Given the description of an element on the screen output the (x, y) to click on. 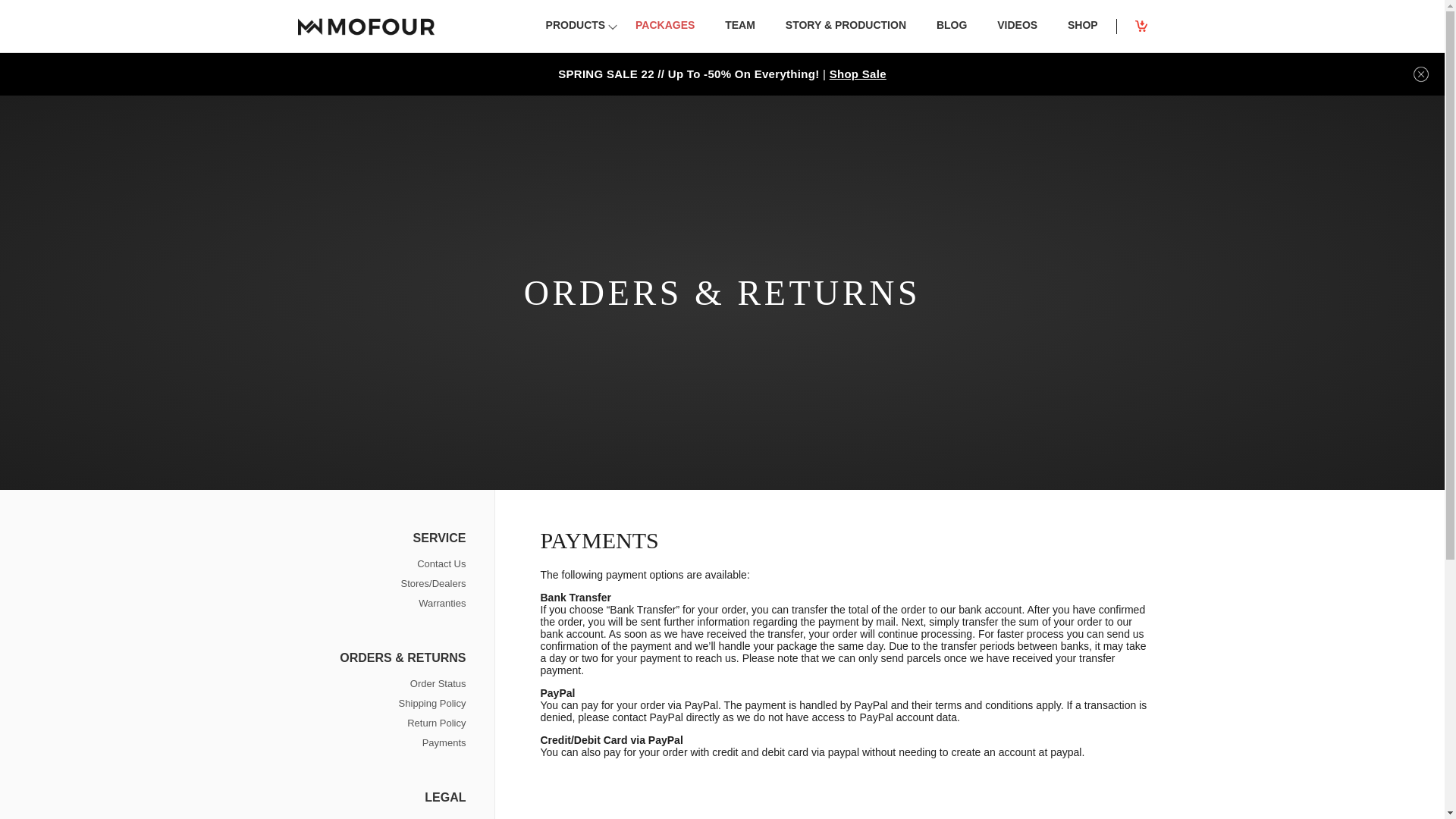
PRODUCTS (575, 33)
PACKAGES (664, 33)
BLOG (951, 33)
VIDEOS (1017, 33)
TEAM (740, 33)
SHOP (1082, 33)
